Given the description of an element on the screen output the (x, y) to click on. 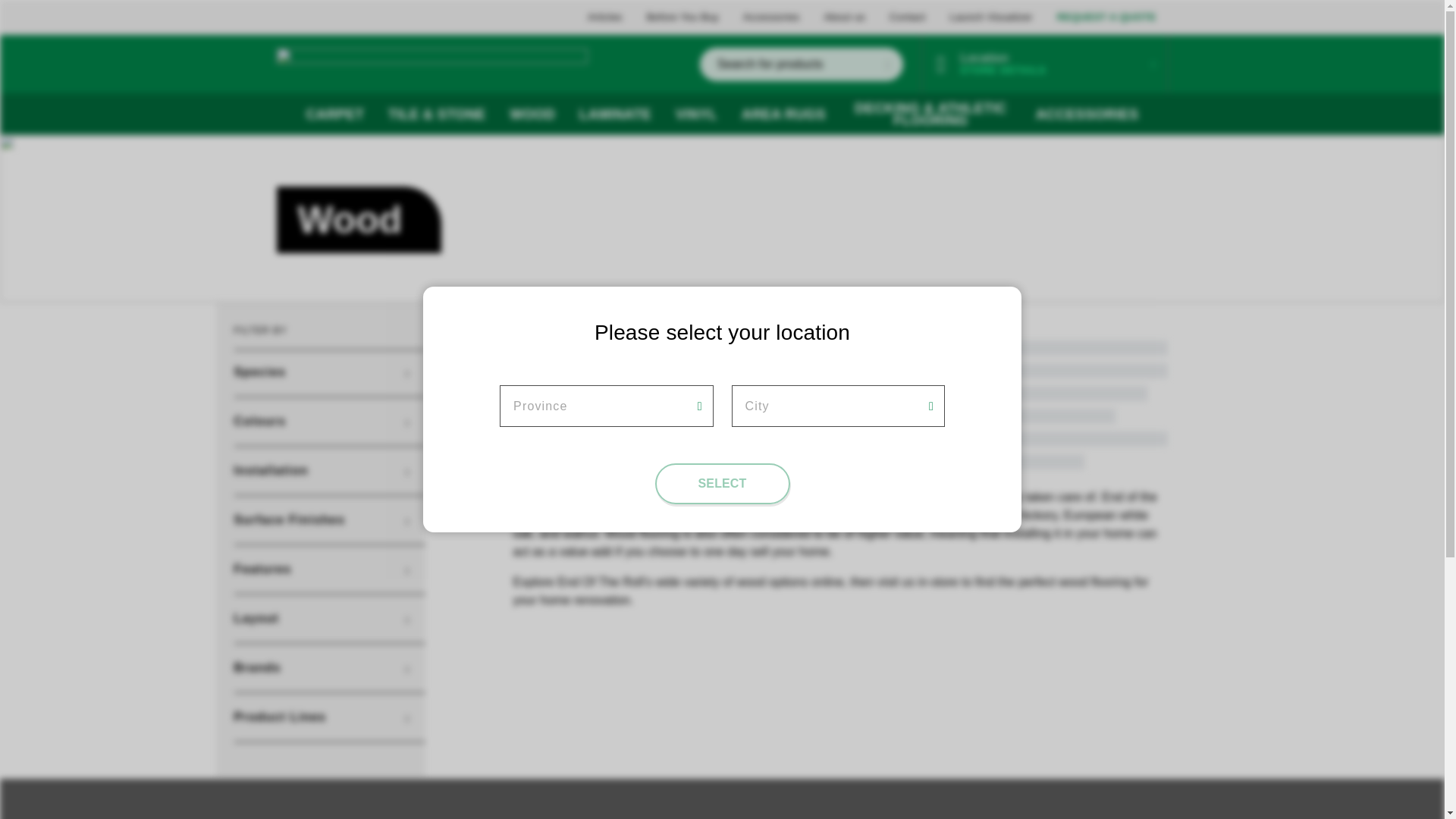
REQUEST A QUOTE (1106, 17)
Contact (907, 17)
Before You Buy (682, 17)
About us (844, 17)
Articles (605, 17)
Launch Visualizer (991, 17)
Accessories (770, 17)
